Given the description of an element on the screen output the (x, y) to click on. 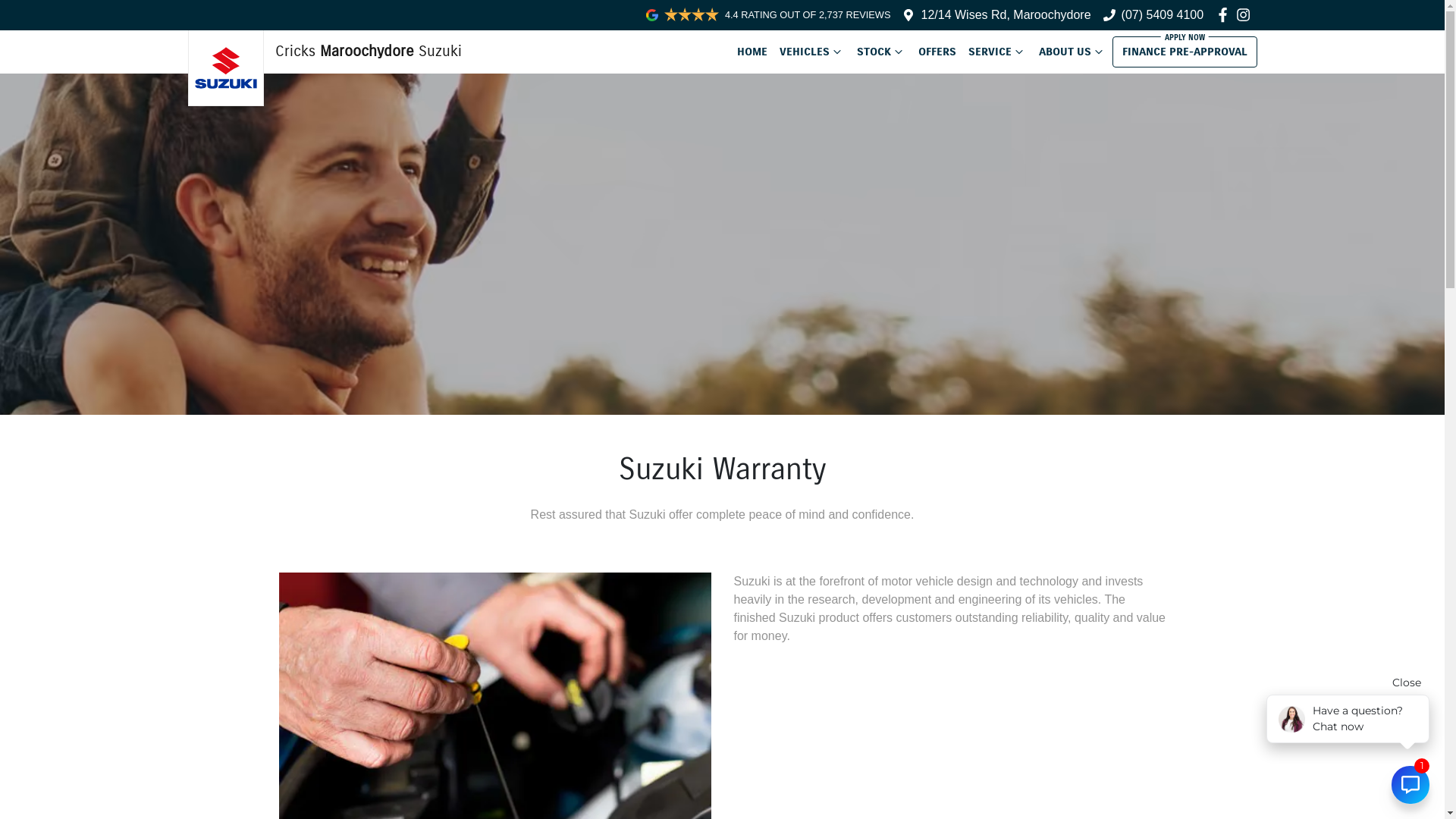
12/14 Wises Rd, Maroochydore Element type: text (1005, 14)
FINANCE PRE-APPROVAL Element type: text (1183, 51)
(07) 5409 4100 Element type: text (1162, 14)
OFFERS Element type: text (936, 51)
STOCK Element type: text (881, 51)
ABOUT US Element type: text (1072, 51)
HOME Element type: text (752, 51)
VEHICLES Element type: text (811, 51)
Cricks Maroochydore Suzuki Element type: text (324, 51)
SERVICE Element type: text (996, 51)
